Given the description of an element on the screen output the (x, y) to click on. 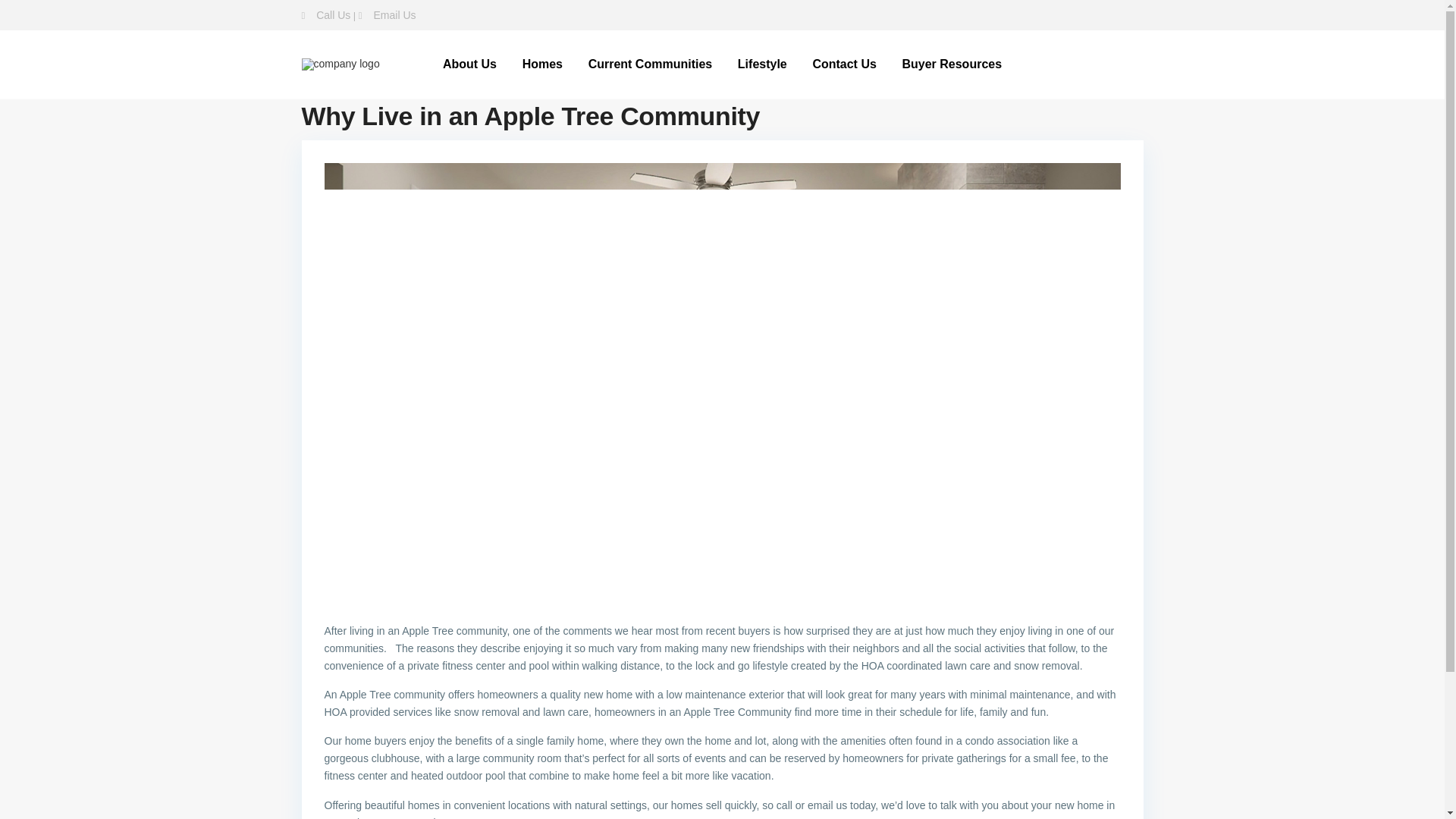
Homes (542, 64)
Call Us (332, 14)
Email Us (393, 14)
Current Communities (649, 64)
Lifestyle (761, 64)
About Us (469, 64)
